Given the description of an element on the screen output the (x, y) to click on. 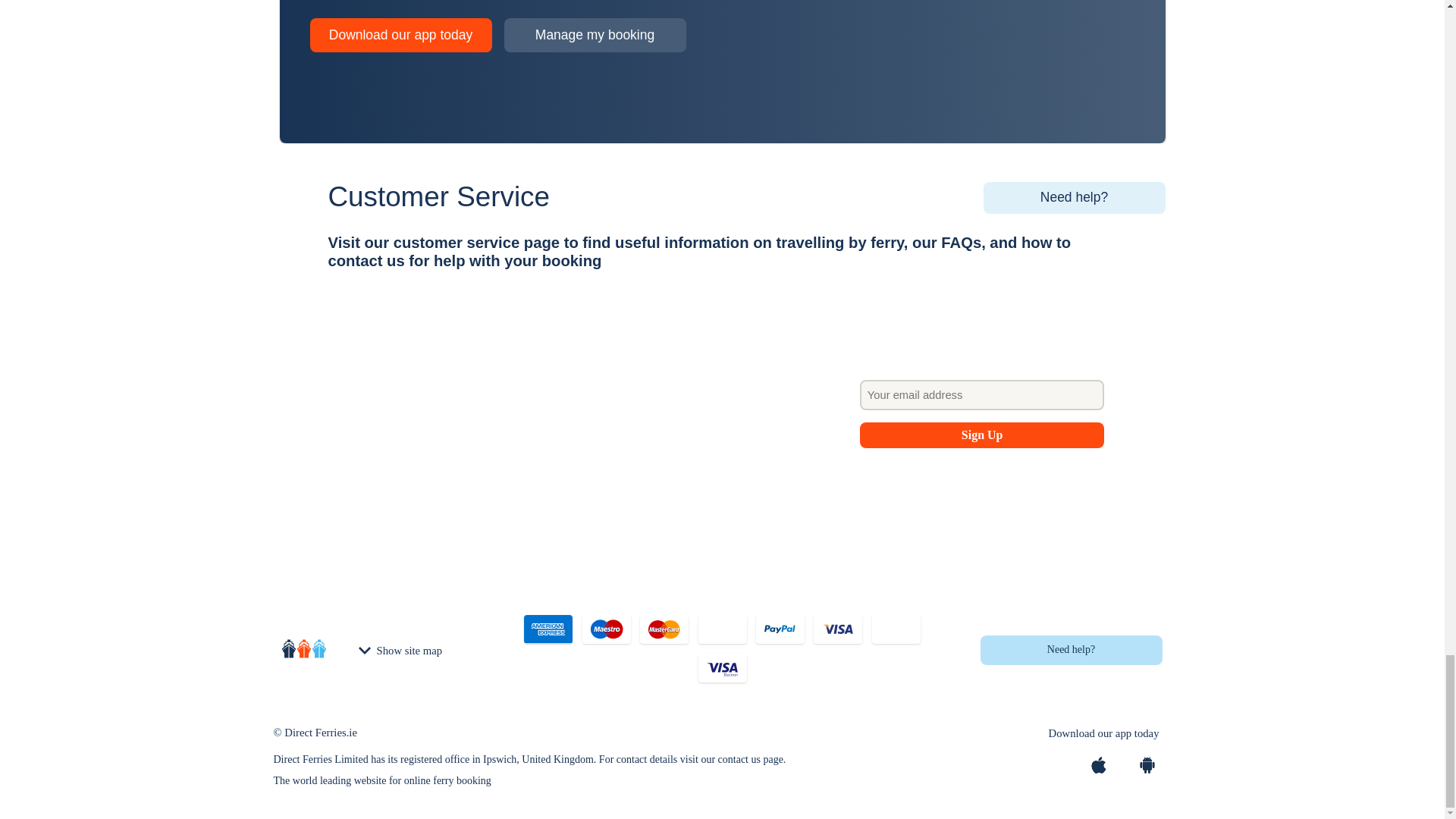
Sign Up (982, 434)
